Given the description of an element on the screen output the (x, y) to click on. 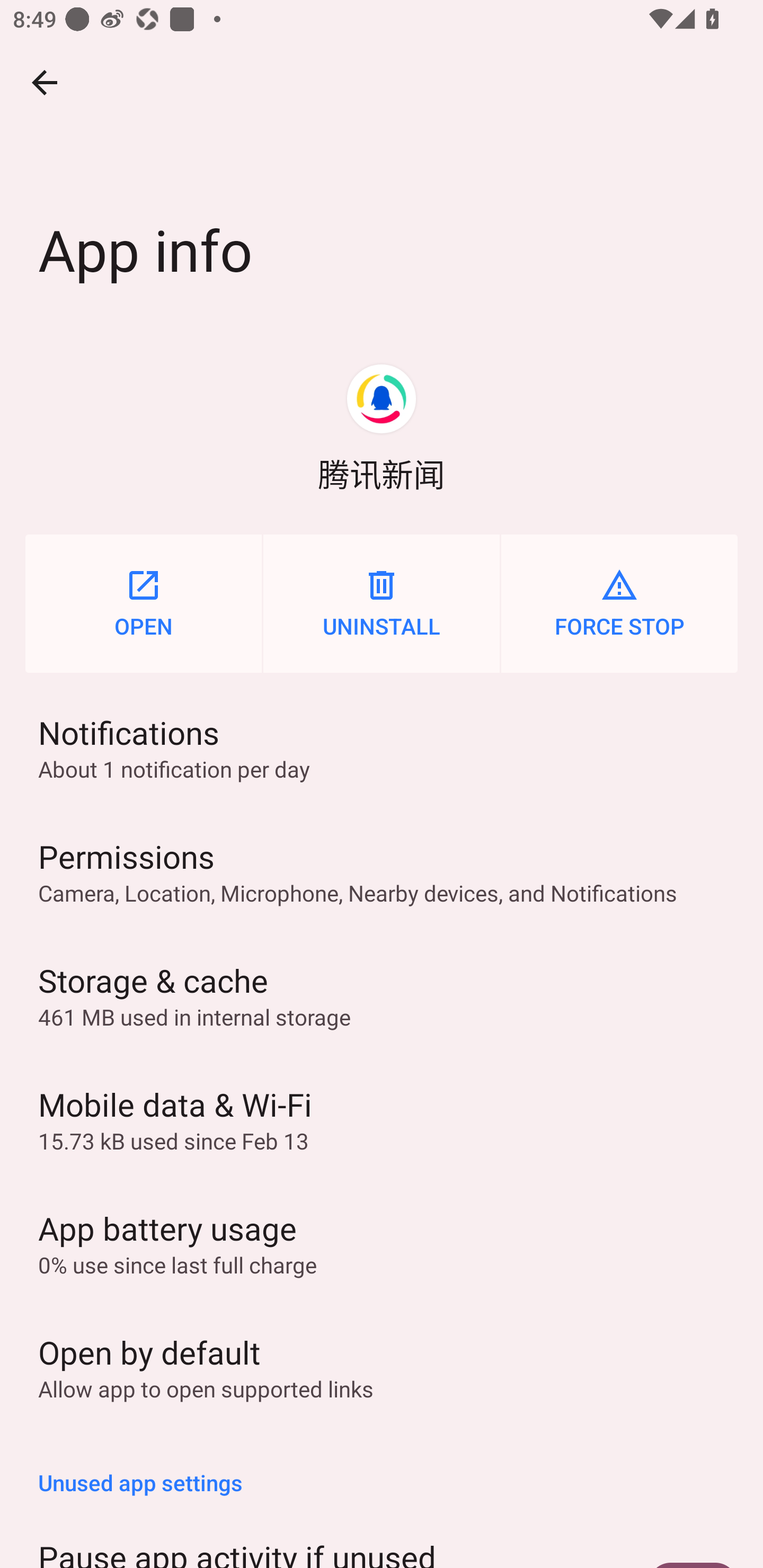
Navigate up (44, 82)
OPEN (143, 603)
UNINSTALL (381, 603)
FORCE STOP (619, 603)
Notifications About 1 notification per day (381, 747)
Storage & cache 461 MB used in internal storage (381, 994)
Mobile data & Wi‑Fi 15.73 kB used since Feb 13 (381, 1118)
App battery usage 0% use since last full charge (381, 1242)
Open by default Allow app to open supported links (381, 1366)
